Given the description of an element on the screen output the (x, y) to click on. 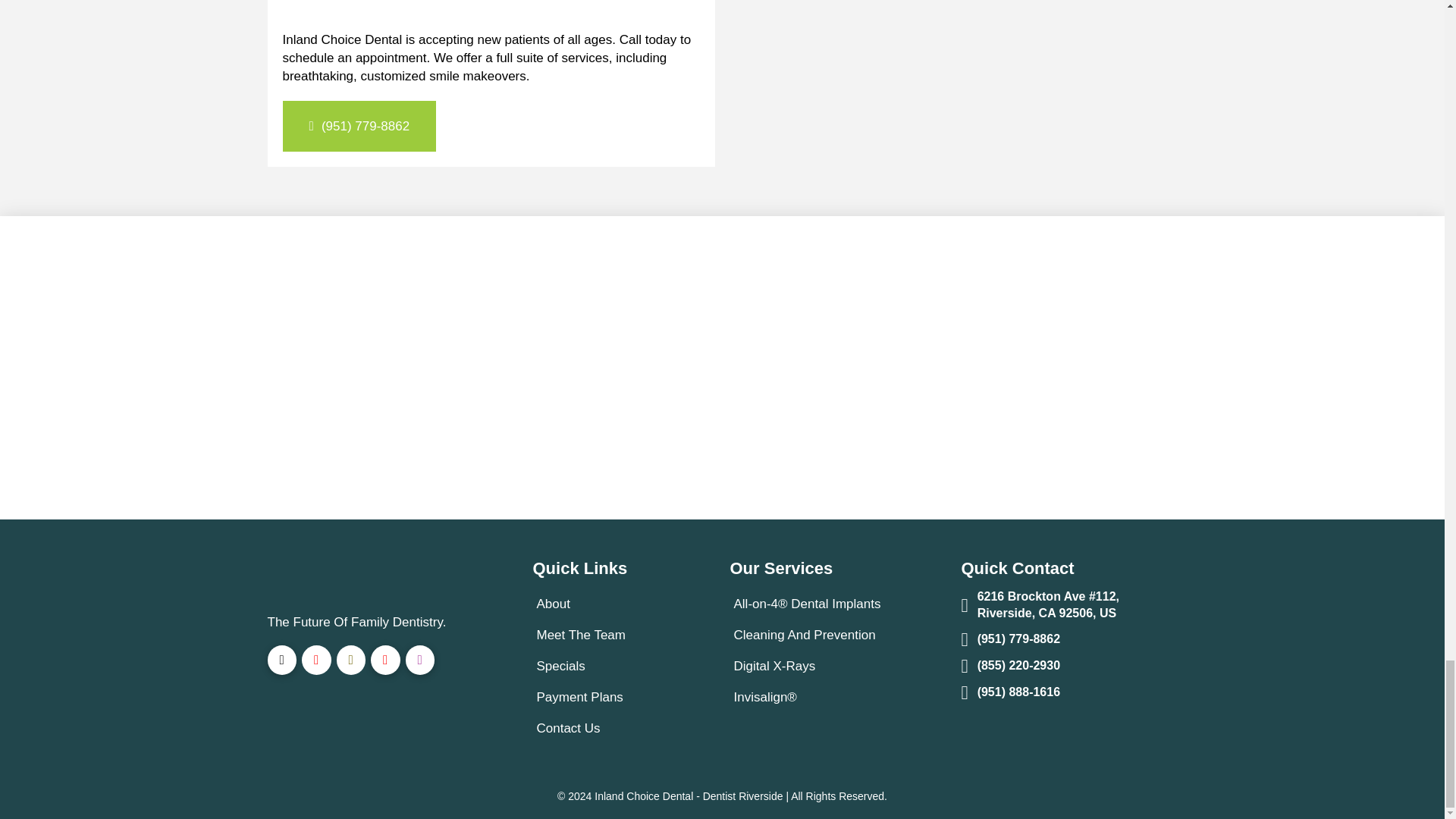
About (555, 603)
Cleaning And Prevention (806, 634)
Payment Plans (581, 696)
Meet The Team (583, 634)
Contact Us (570, 727)
Specials (563, 665)
Digital X-Rays (776, 665)
